Given the description of an element on the screen output the (x, y) to click on. 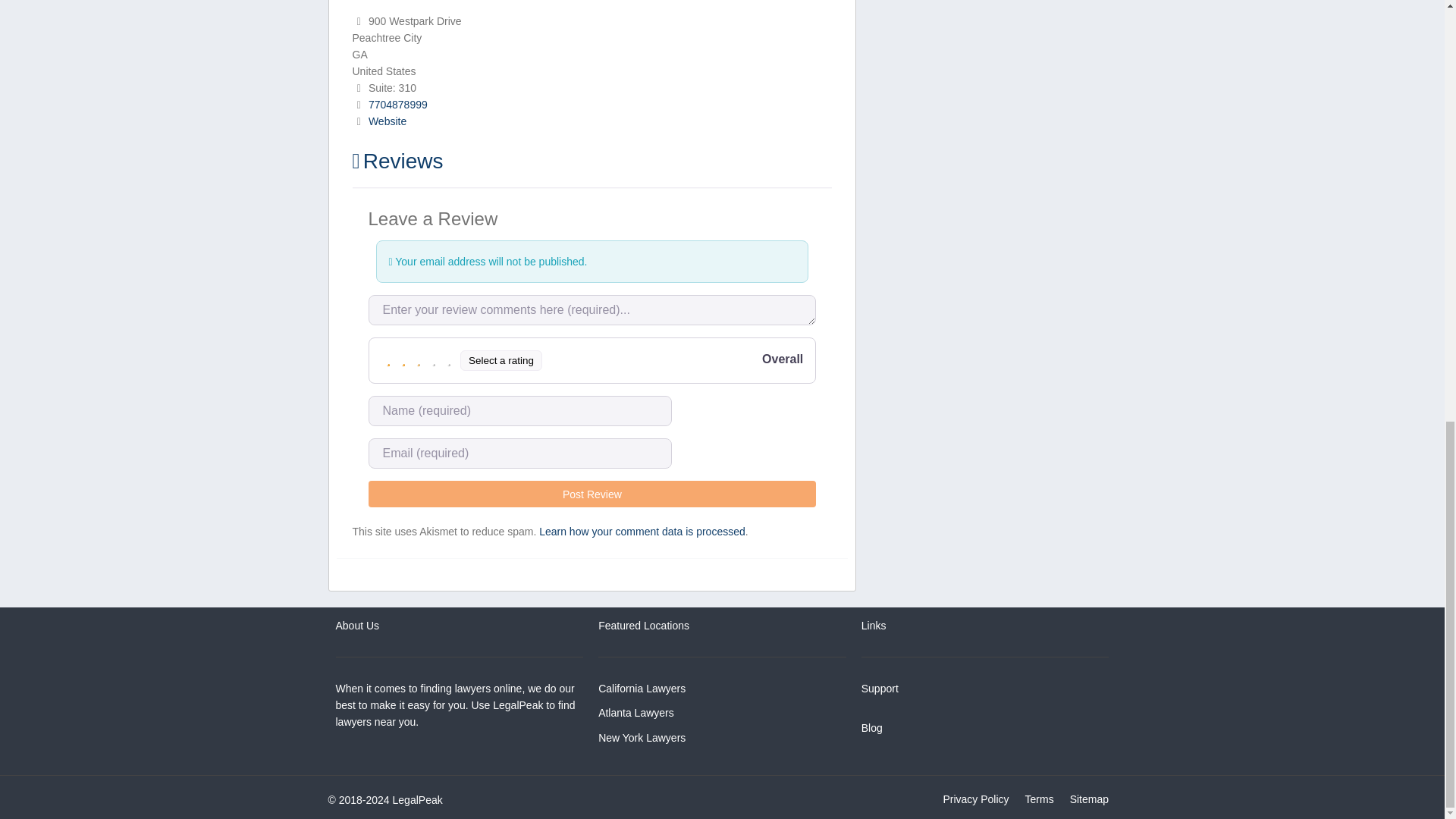
California Lawyers (641, 688)
Website (387, 121)
Poor (403, 359)
Post Review (592, 493)
Reviews (397, 160)
New York Lawyers (641, 737)
Terrible (388, 359)
Support (879, 688)
Atlanta Lawyers (636, 712)
7704878999 (398, 104)
